Given the description of an element on the screen output the (x, y) to click on. 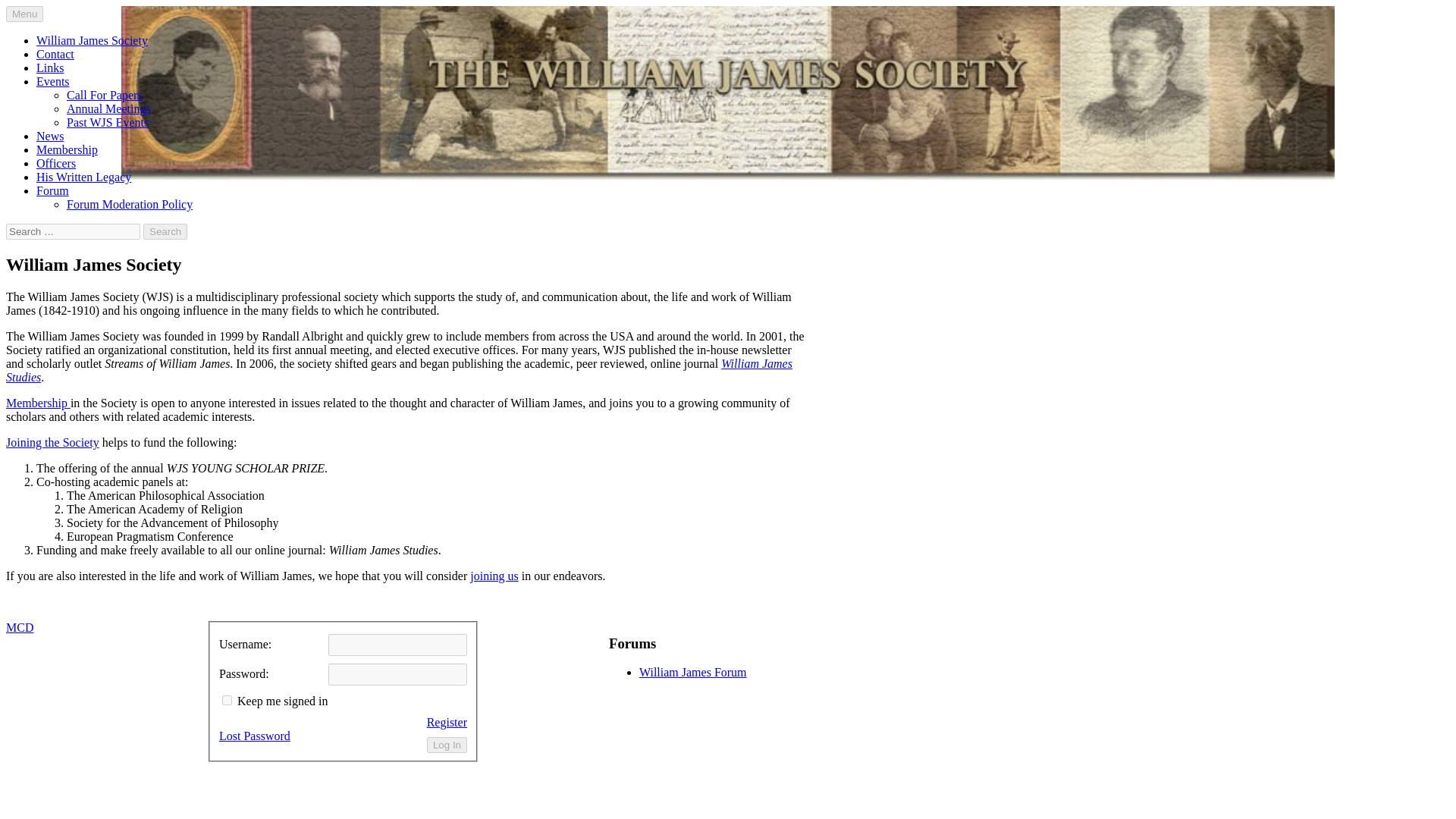
Past WJS Events (107, 122)
Events (52, 81)
Lost Password (254, 735)
Register (446, 721)
William James Studies (398, 370)
Contact (55, 53)
Officers (55, 163)
Search (164, 231)
Search (164, 231)
Search (164, 231)
forever (226, 700)
William James Society (92, 40)
Membership (66, 149)
Forum (52, 190)
